Given the description of an element on the screen output the (x, y) to click on. 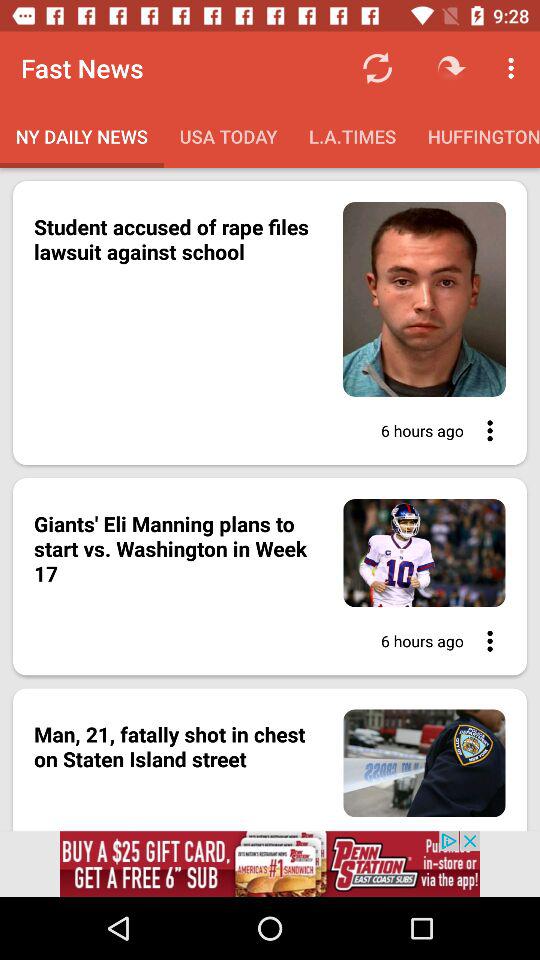
click on the first image (269, 322)
select top right corner icon (514, 68)
tap on icon just left to the refresh button (451, 68)
click on the icon below the second pic (484, 640)
click on the second image beside washington in week (413, 552)
